Given the description of an element on the screen output the (x, y) to click on. 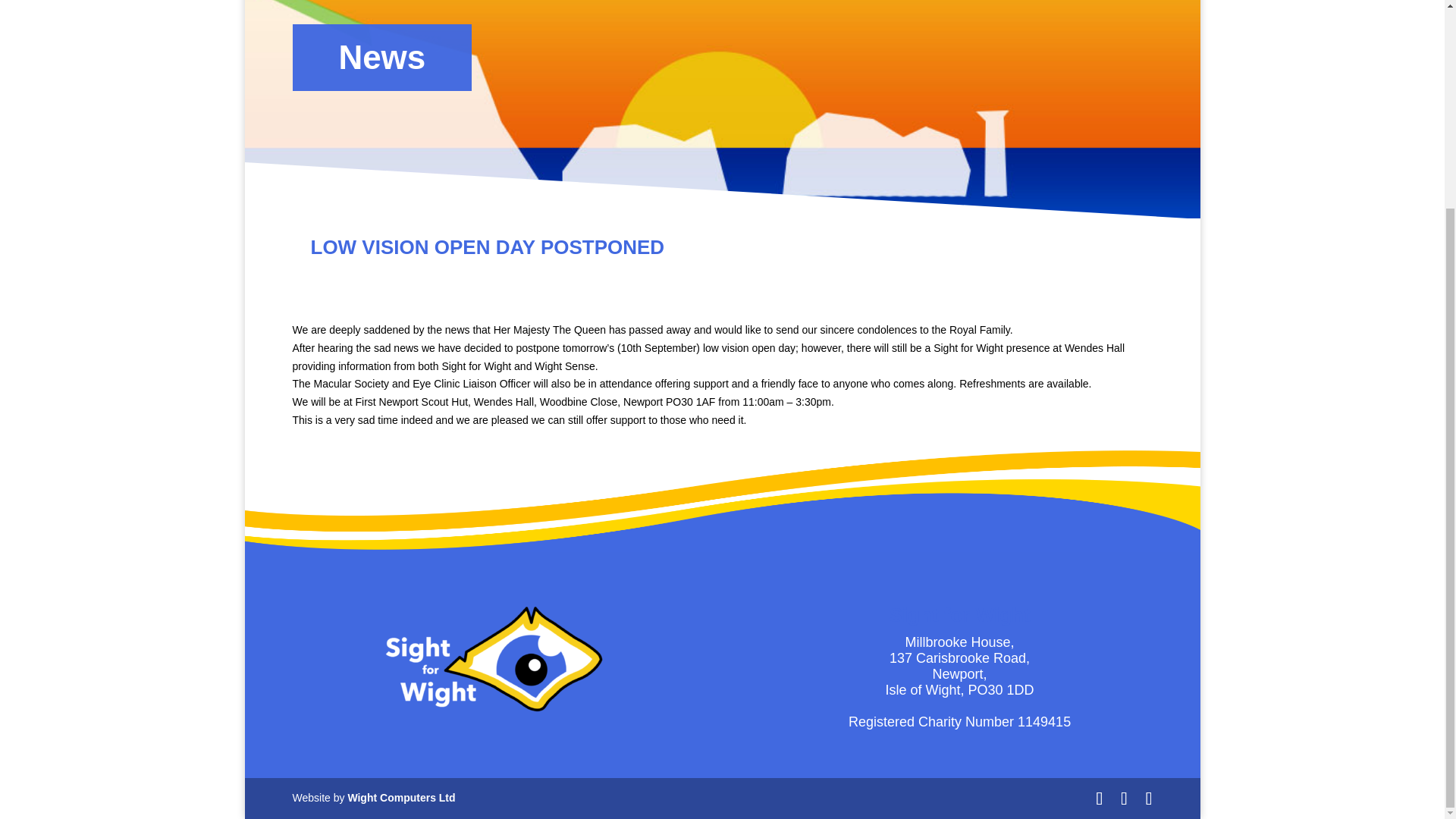
Posts by Sight For Wight (376, 273)
